Given the description of an element on the screen output the (x, y) to click on. 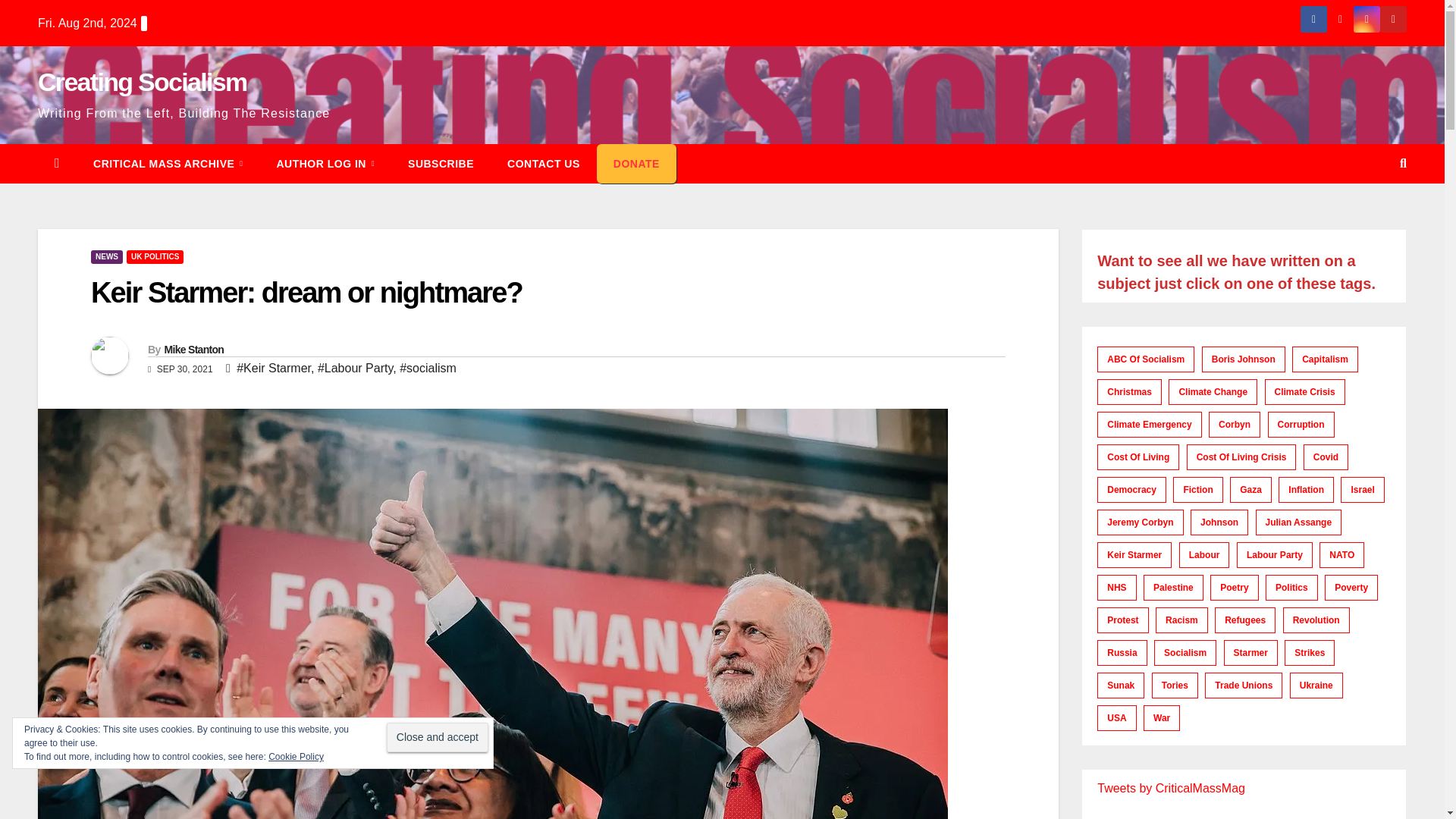
Keir Starmer: dream or nightmare? (306, 292)
NEWS (106, 256)
Creating Socialism (142, 81)
AUTHOR LOG IN (325, 163)
CONTACT US (543, 163)
SUBSCRIBE (440, 163)
CRITICAL MASS ARCHIVE (168, 163)
DONATE (636, 163)
Critical Mass Archive (168, 163)
UK POLITICS (154, 256)
